Given the description of an element on the screen output the (x, y) to click on. 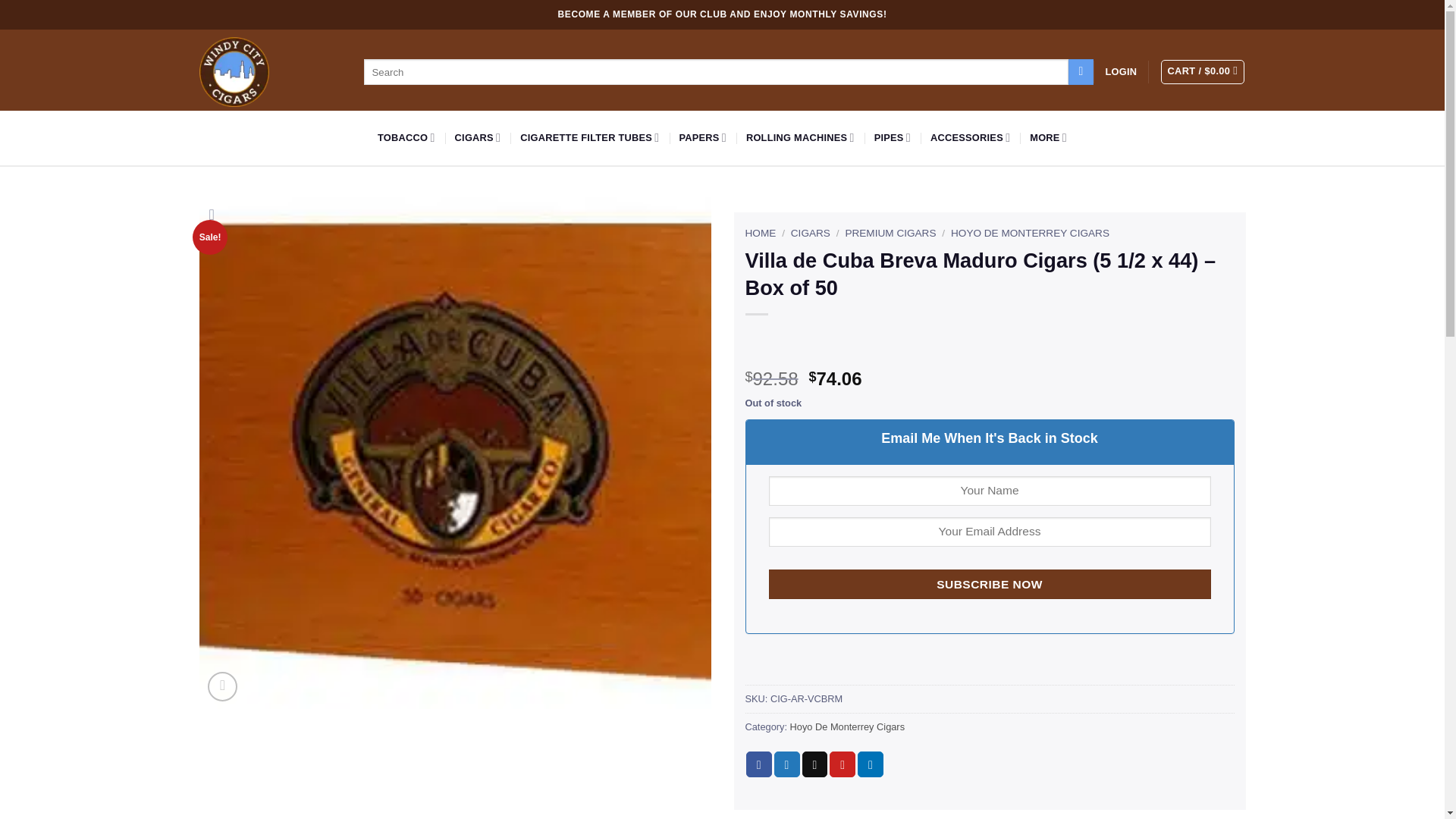
Share on Twitter (786, 764)
Cart (1202, 71)
Share on LinkedIn (870, 764)
BECOME A MEMBER OF OUR CLUB AND ENJOY MONTHLY SAVINGS! (721, 14)
Email to a Friend (815, 764)
Subscribe Now (989, 583)
Windy City Cigars (232, 71)
Pin on Pinterest (842, 764)
Share on Facebook (758, 764)
Search (1080, 71)
Zoom (222, 686)
TOBACCO (406, 137)
LOGIN (1121, 71)
